Given the description of an element on the screen output the (x, y) to click on. 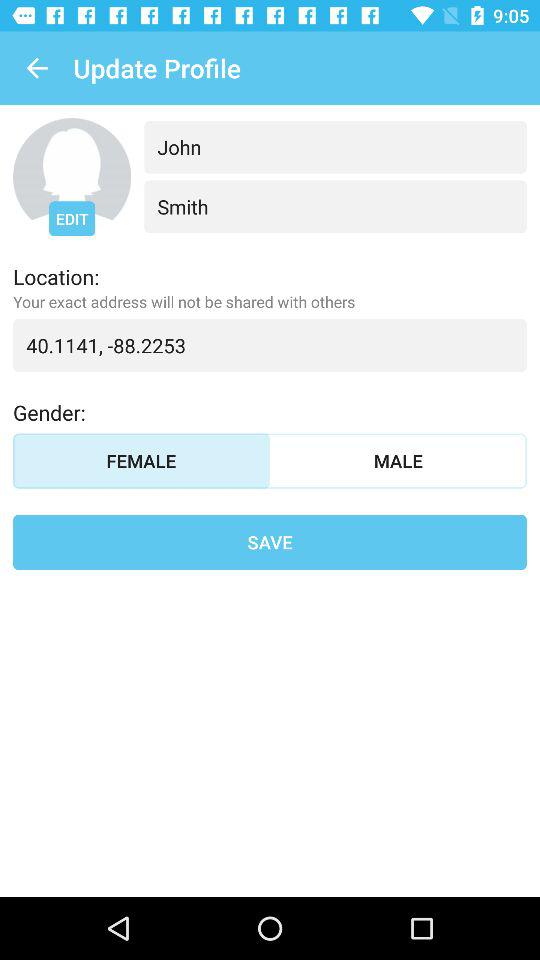
turn on icon to the left of the male (141, 460)
